Given the description of an element on the screen output the (x, y) to click on. 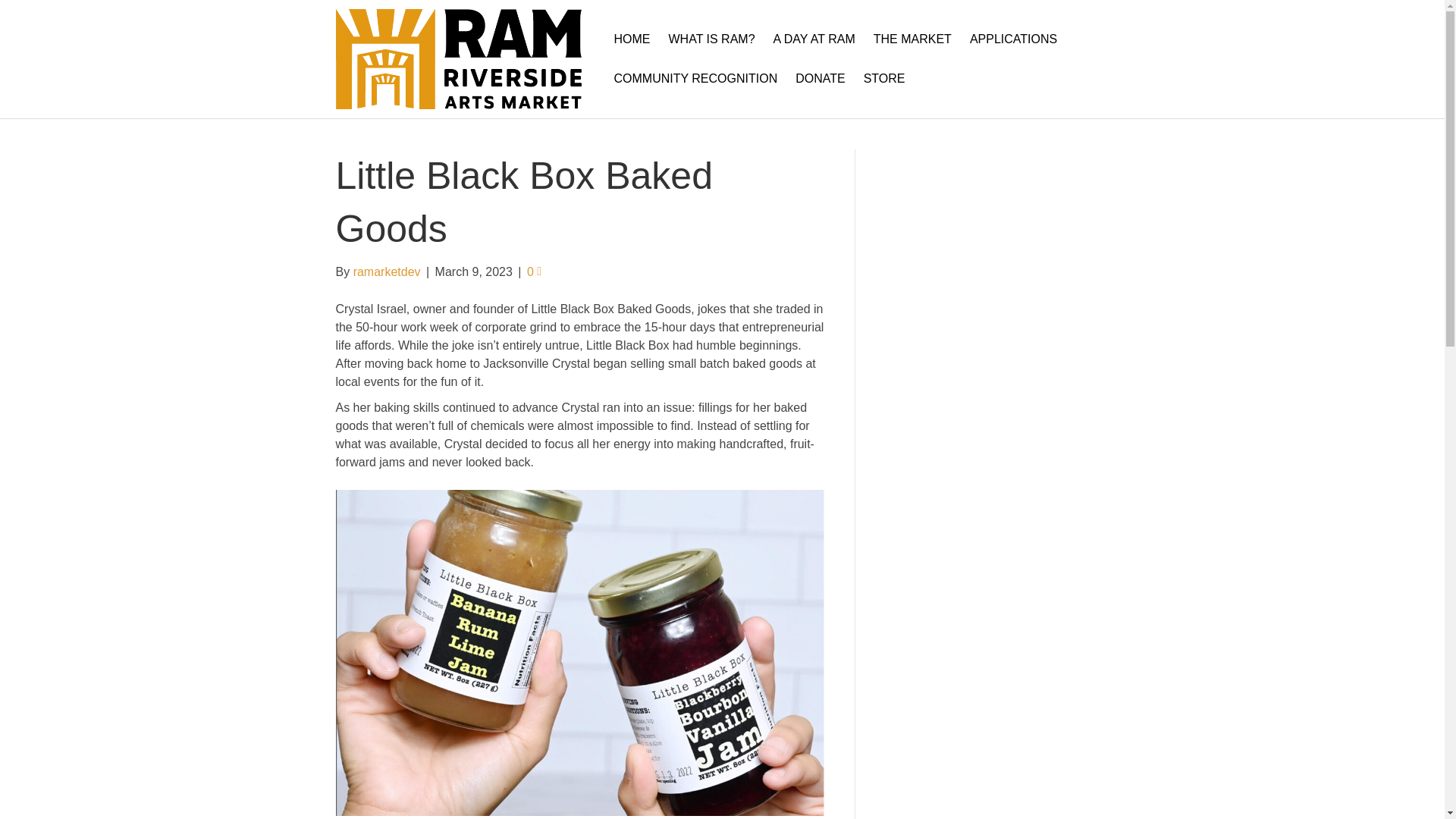
A DAY AT RAM (814, 38)
WHAT IS RAM? (710, 38)
HOME (631, 38)
